Given the description of an element on the screen output the (x, y) to click on. 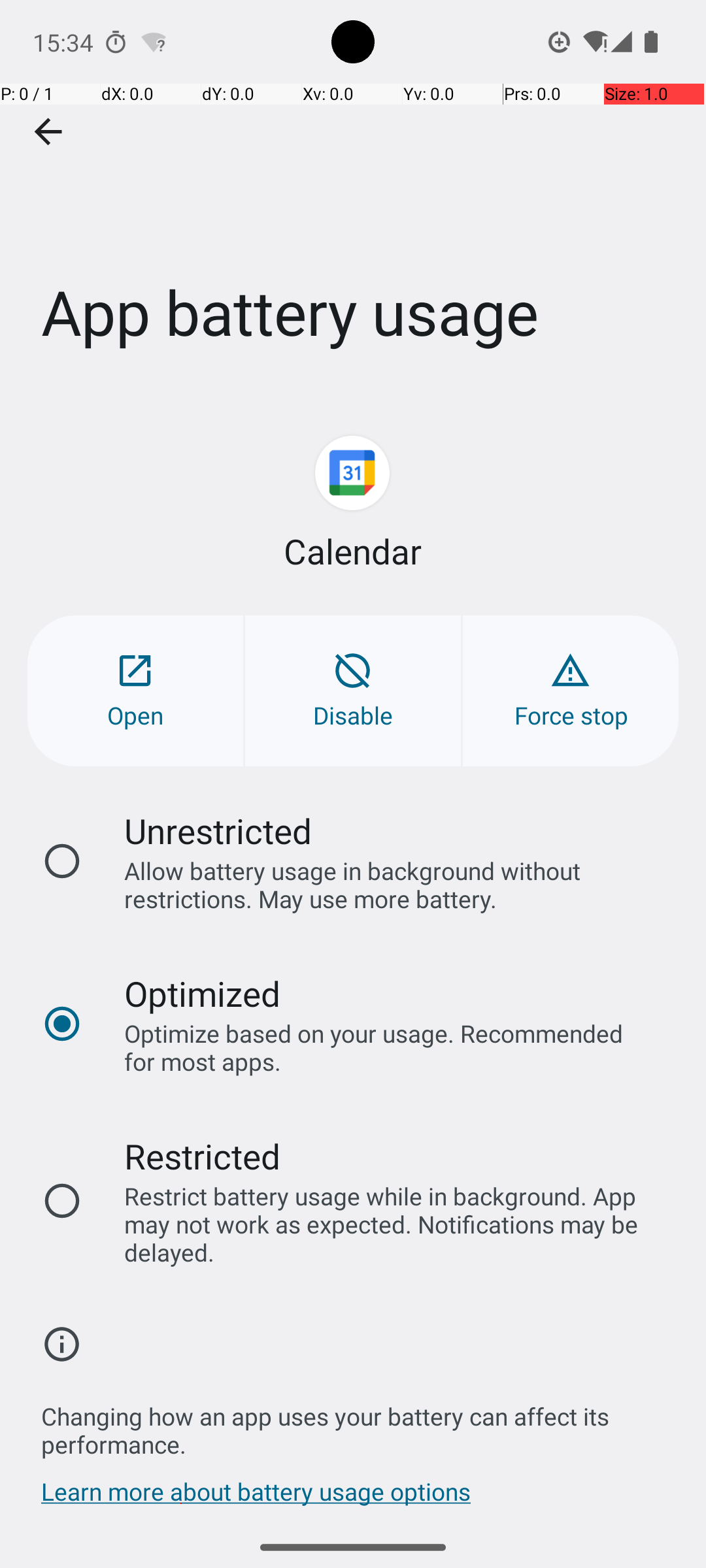
Unrestricted Element type: android.widget.TextView (217, 830)
Allow battery usage in background without restrictions. May use more battery. Element type: android.widget.TextView (387, 884)
Optimized Element type: android.widget.TextView (202, 993)
Optimize based on your usage. Recommended for most apps. Element type: android.widget.TextView (387, 1047)
Restricted Element type: android.widget.TextView (202, 1155)
Restrict battery usage while in background. App may not work as expected. Notifications may be delayed. Element type: android.widget.TextView (387, 1223)
Changing how an app uses your battery can affect its performance. Element type: android.widget.TextView (359, 1423)
Learn more about battery usage options Element type: android.widget.TextView (255, 1497)
